Given the description of an element on the screen output the (x, y) to click on. 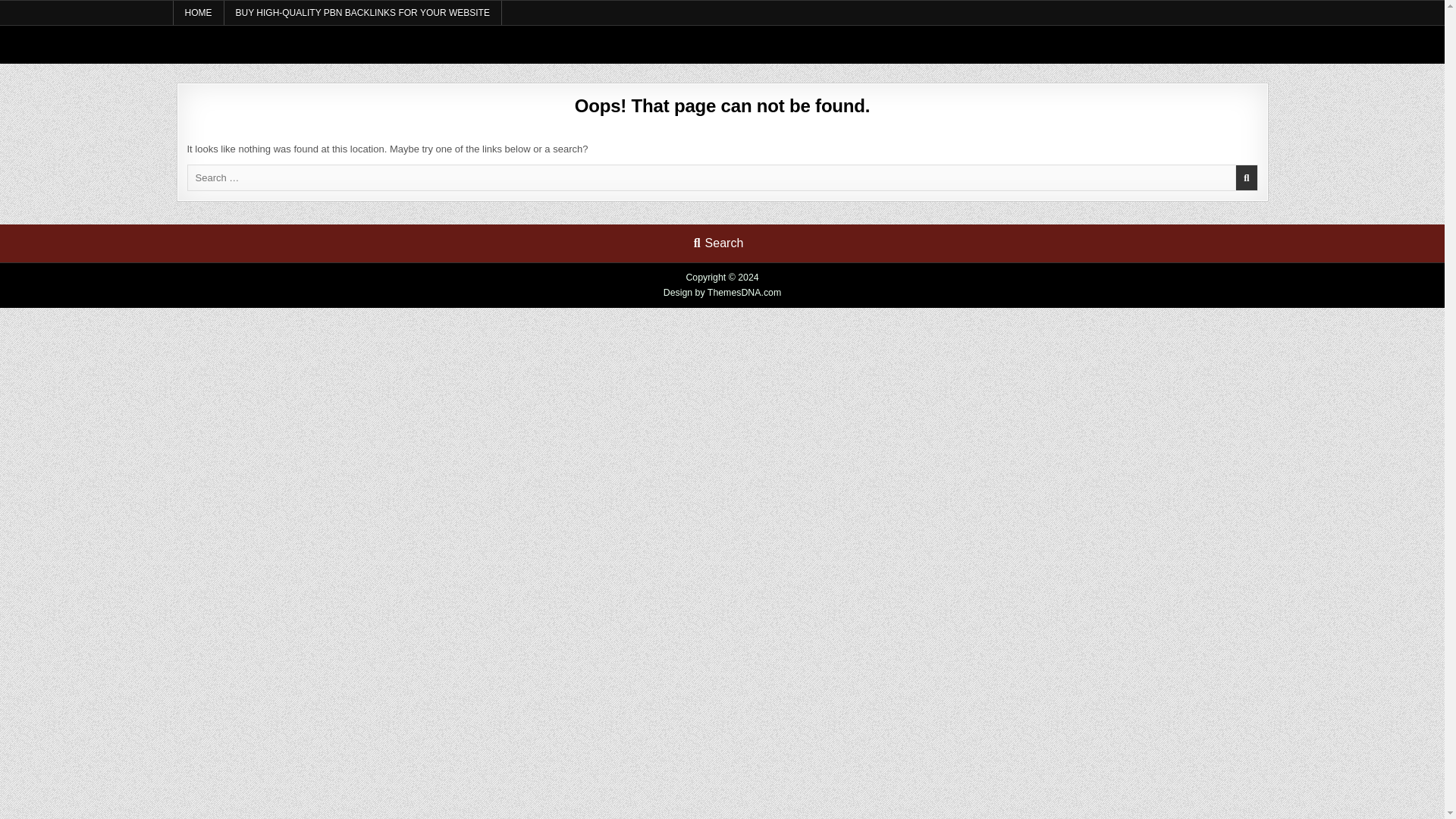
Search (718, 242)
Design by ThemesDNA.com (722, 292)
HOME (198, 12)
BUY HIGH-QUALITY PBN BACKLINKS FOR YOUR WEBSITE (363, 12)
